Given the description of an element on the screen output the (x, y) to click on. 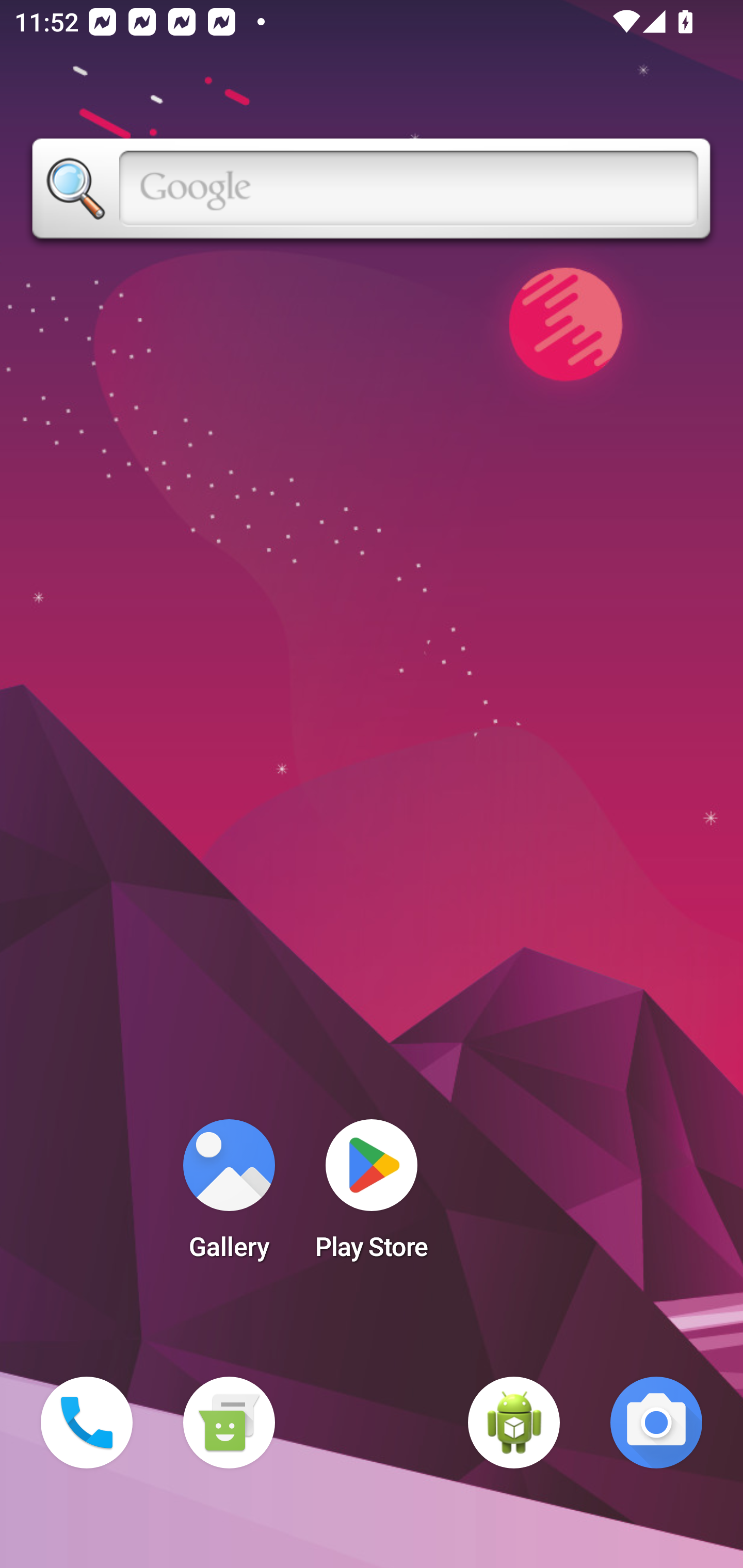
Gallery (228, 1195)
Play Store (371, 1195)
Phone (86, 1422)
Messaging (228, 1422)
WebView Browser Tester (513, 1422)
Camera (656, 1422)
